Given the description of an element on the screen output the (x, y) to click on. 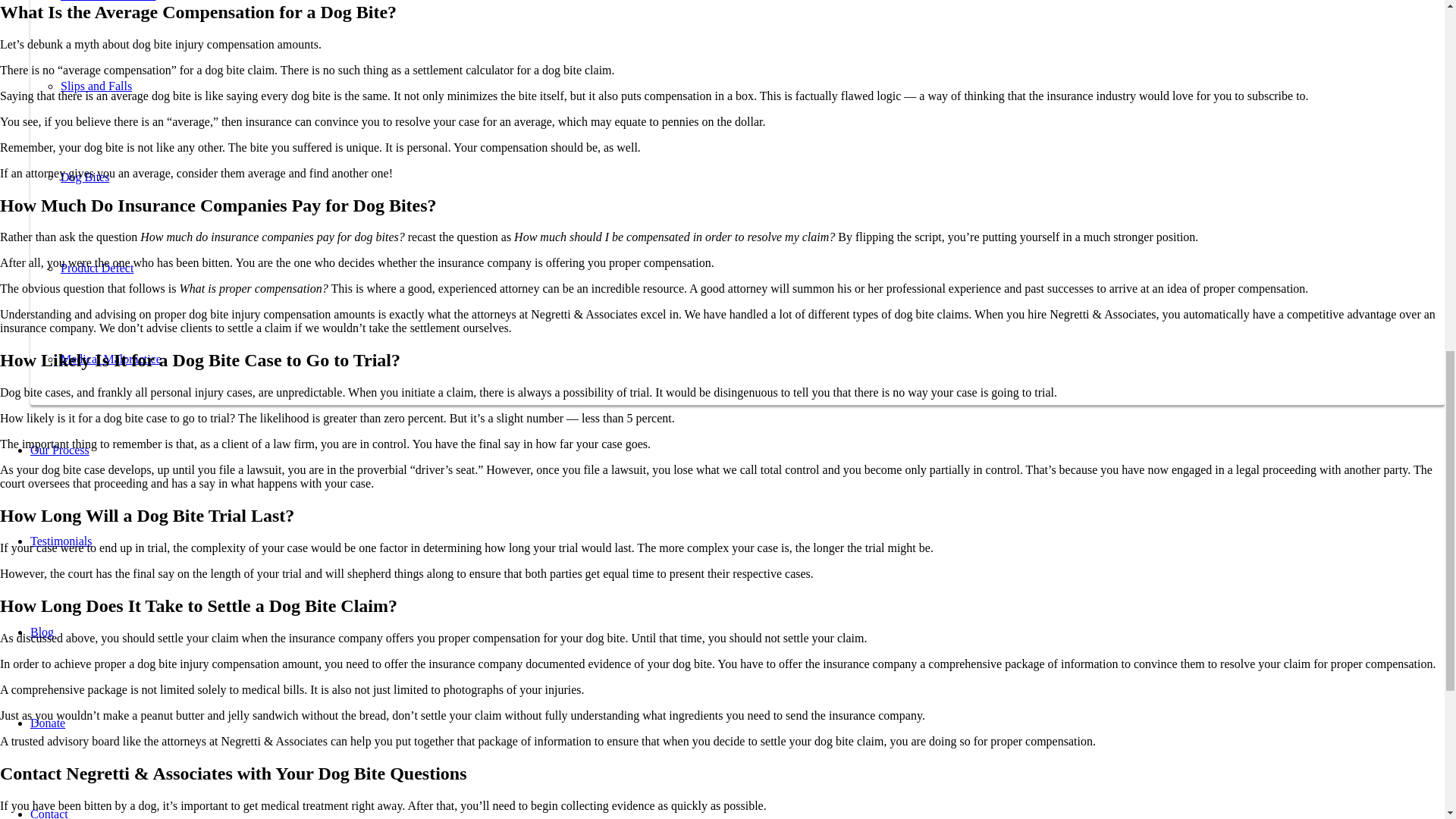
Ride Share Crashes (108, 0)
Our Process (59, 449)
Slips and Falls (96, 85)
Dog Bites (85, 176)
Product Defect (97, 267)
Testimonials (61, 540)
Blog (41, 631)
Donate (47, 722)
Medical Malpractice (111, 358)
Donate (47, 722)
Contact (49, 813)
